Given the description of an element on the screen output the (x, y) to click on. 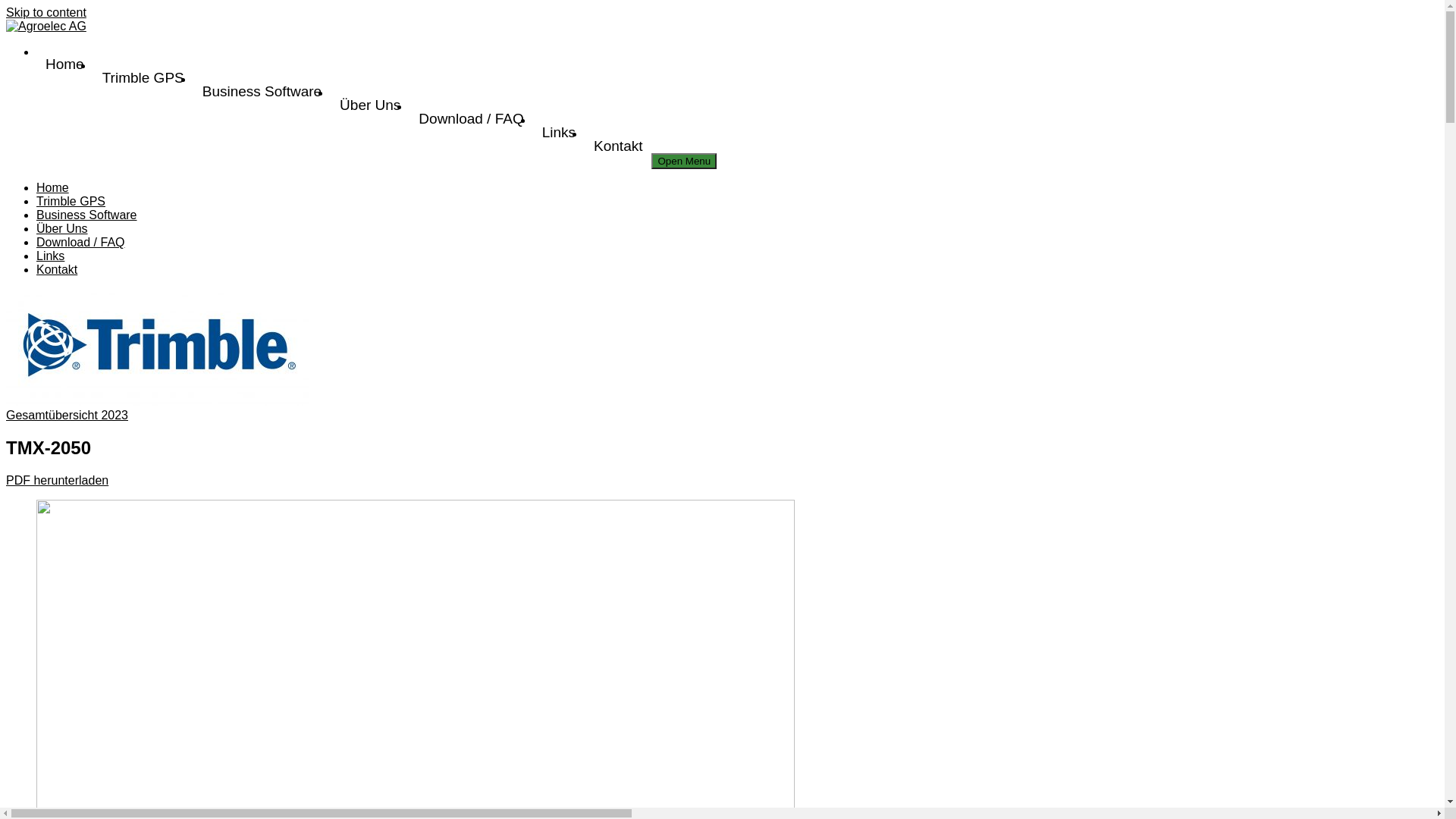
PDF herunterladen Element type: text (57, 479)
Trimble GPS Element type: text (70, 200)
Skip to content Element type: text (46, 12)
Links Element type: text (50, 255)
Download / FAQ Element type: text (470, 119)
Trimble logo Element type: hover (157, 346)
Business Software Element type: text (261, 91)
Open Menu Element type: text (683, 161)
Links Element type: text (558, 132)
Trimble GPS Element type: text (143, 78)
Business Software Element type: text (86, 214)
Home Element type: text (52, 187)
Kontakt Element type: text (56, 269)
Download / FAQ Element type: text (80, 241)
Home Element type: text (64, 64)
Kontakt Element type: text (617, 146)
